Given the description of an element on the screen output the (x, y) to click on. 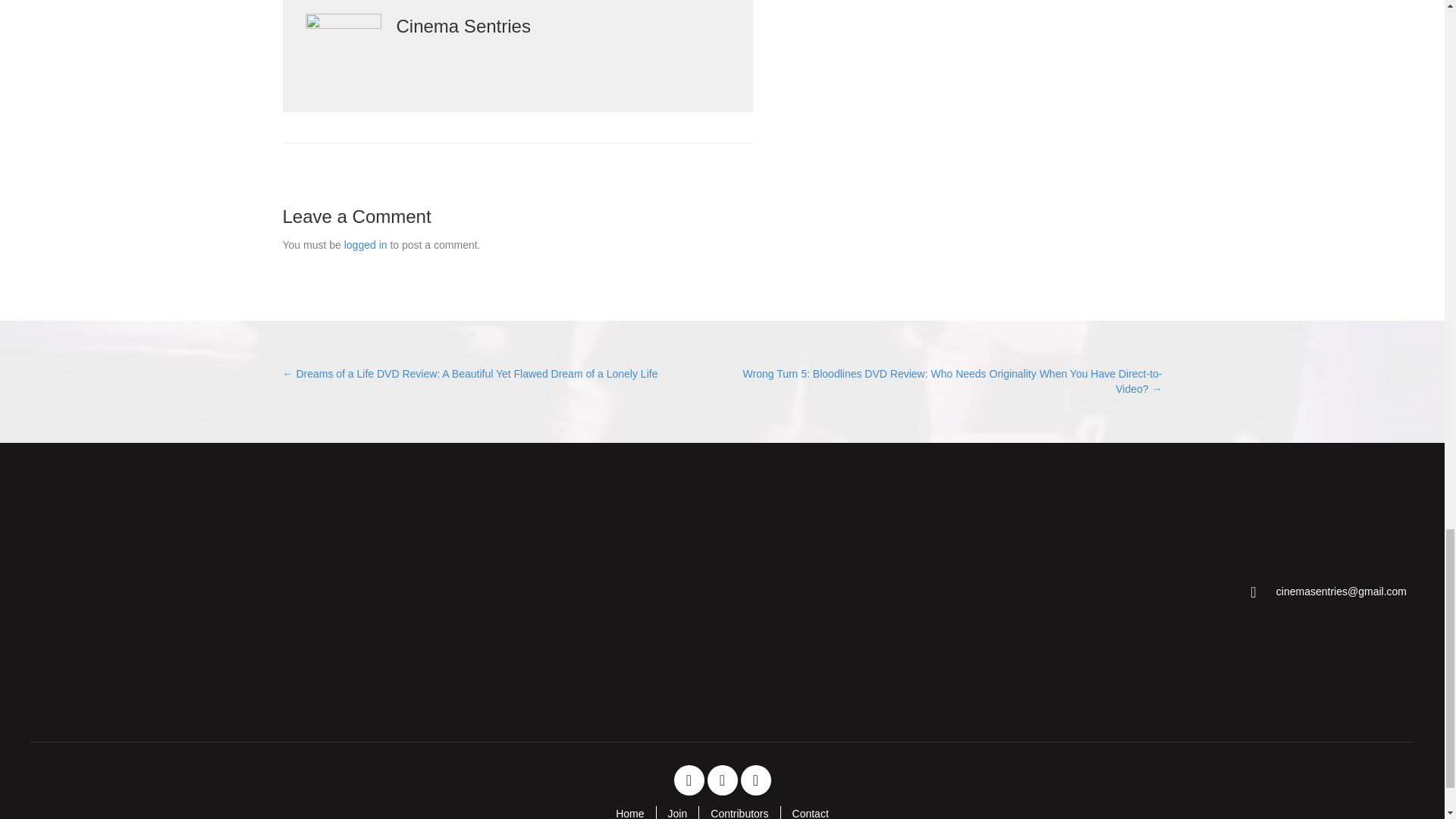
Instagram (754, 779)
Facebook (687, 779)
Cinema Sentries (148, 592)
Twitter (721, 779)
logged in (365, 244)
